Given the description of an element on the screen output the (x, y) to click on. 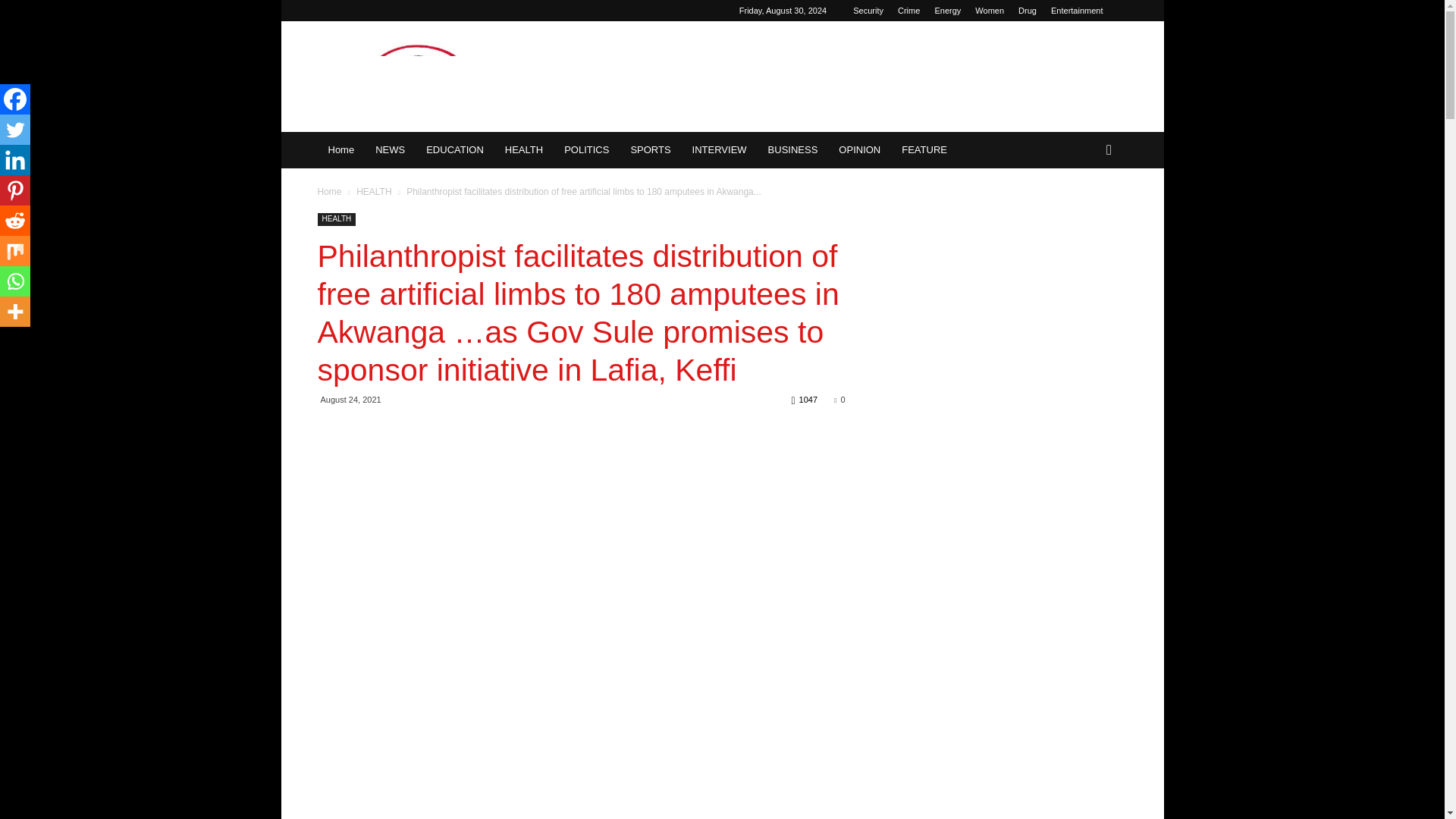
HEALTH (524, 149)
Entertainment (1076, 10)
Drug (1026, 10)
INTERVIEW (719, 149)
FEATURE (924, 149)
EDUCATION (454, 149)
Women (989, 10)
Facebook (15, 99)
0 (839, 399)
SPORTS (650, 149)
